Given the description of an element on the screen output the (x, y) to click on. 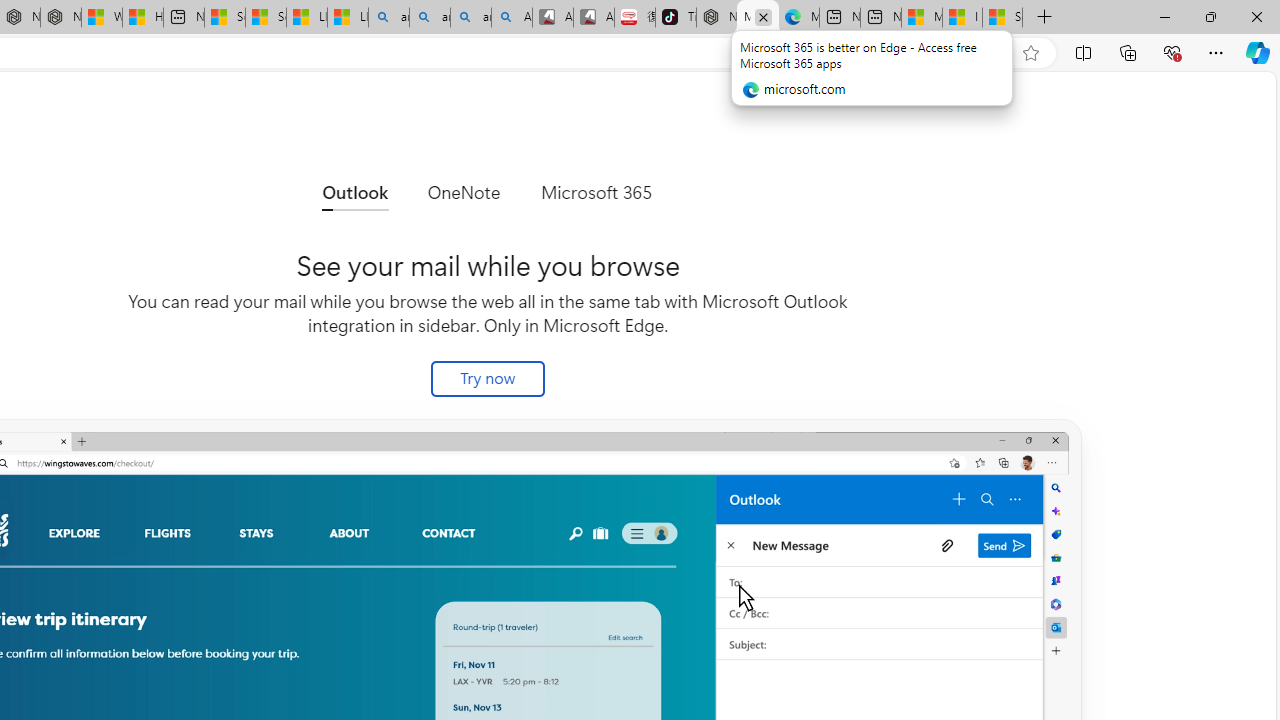
TikTok (675, 17)
Amazon Echo Robot - Search Images (511, 17)
